Given the description of an element on the screen output the (x, y) to click on. 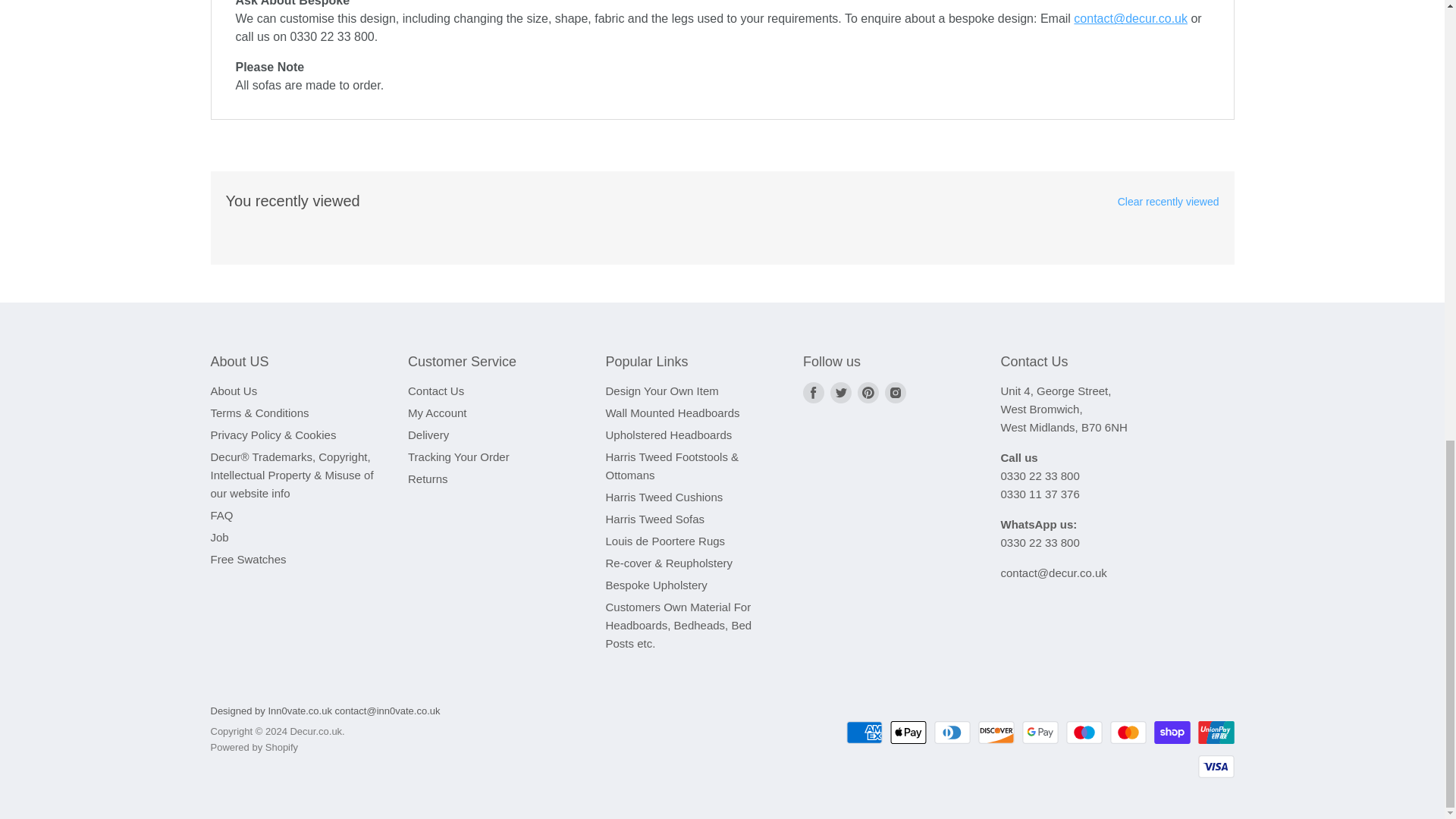
Instagram (895, 392)
Facebook (813, 392)
Twitter (840, 392)
Pinterest (868, 392)
